Given the description of an element on the screen output the (x, y) to click on. 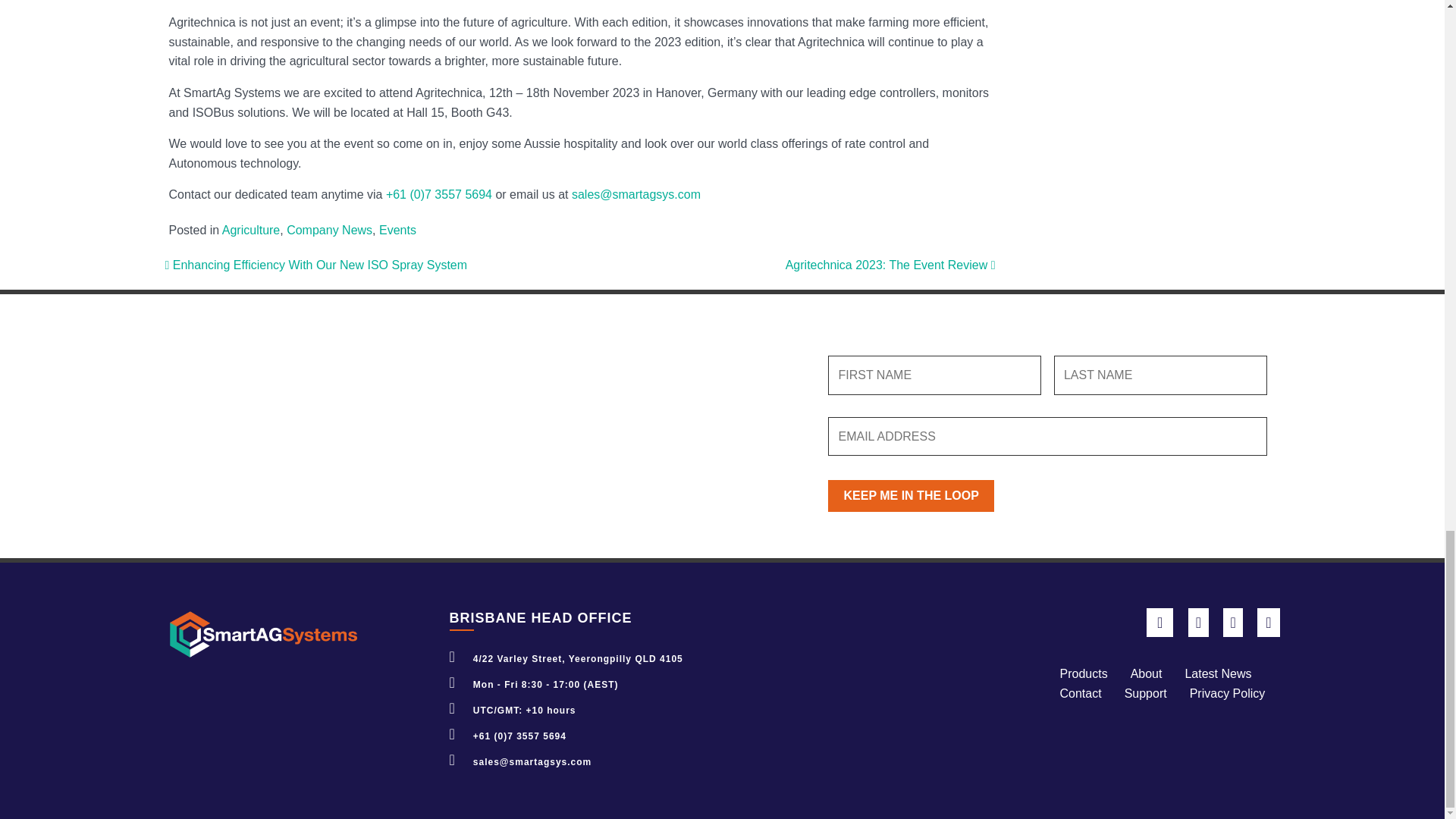
Agritechnica 2023: The Event Review  (890, 264)
Agriculture (250, 229)
KEEP ME IN THE LOOP (910, 495)
About (1146, 673)
Company News (329, 229)
Events (397, 229)
Contact (1080, 693)
 Enhancing Efficiency With Our New ISO Spray System (316, 264)
Latest News (1217, 673)
KEEP ME IN THE LOOP (910, 495)
